Given the description of an element on the screen output the (x, y) to click on. 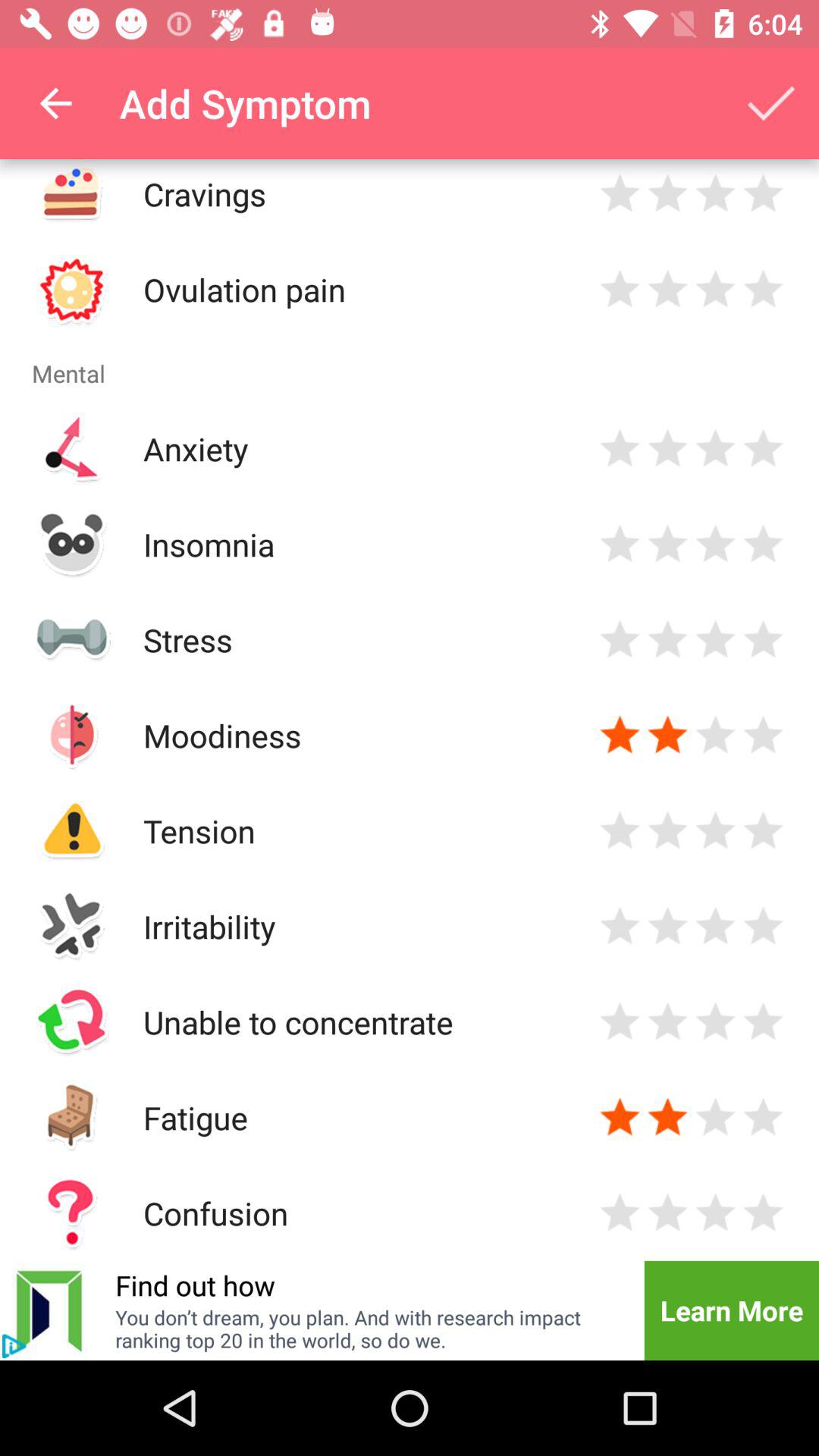
feedback (763, 193)
